Given the description of an element on the screen output the (x, y) to click on. 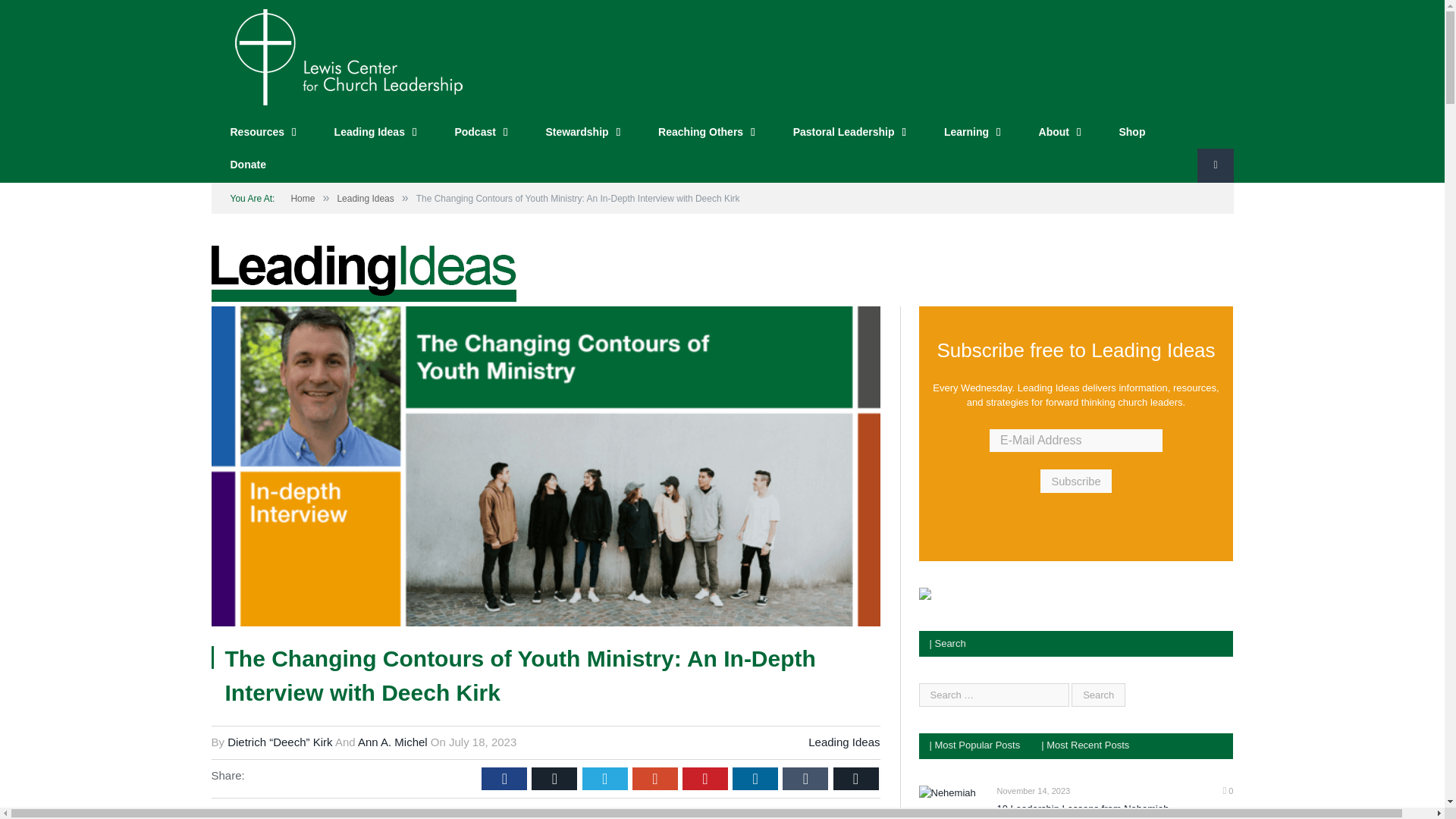
2023-07-18 (482, 741)
Leading Ideas (375, 132)
Lewis Center for Church Leadership (347, 55)
Print this page (854, 778)
Resources (262, 132)
Share on Tumblr (805, 778)
Reaching Others (706, 132)
Share on Facebook (504, 778)
Share on LinkedIn (754, 778)
Tweet It (604, 778)
Search (1098, 693)
Stewardship (582, 132)
Posts by Ann A. Michel (393, 741)
Subscribe (1075, 481)
